Given the description of an element on the screen output the (x, y) to click on. 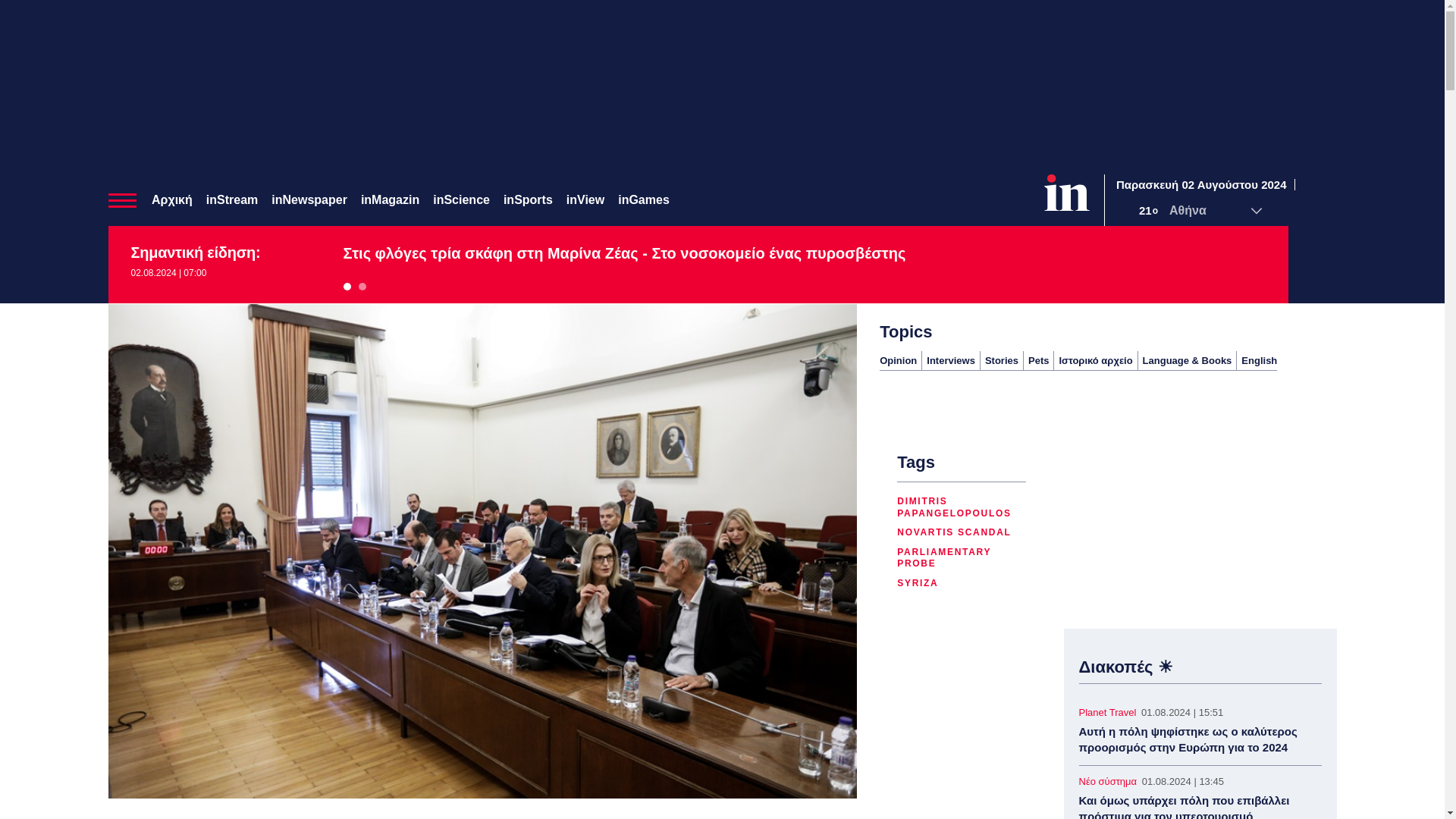
Interviews (950, 360)
inNewspaper (308, 199)
inSports (528, 199)
inScience (460, 199)
inGames (643, 199)
inMagazin (390, 199)
inView (585, 199)
English (1258, 360)
Stories (1001, 360)
Opinion (898, 360)
Pets (1037, 360)
inStream (231, 199)
